Given the description of an element on the screen output the (x, y) to click on. 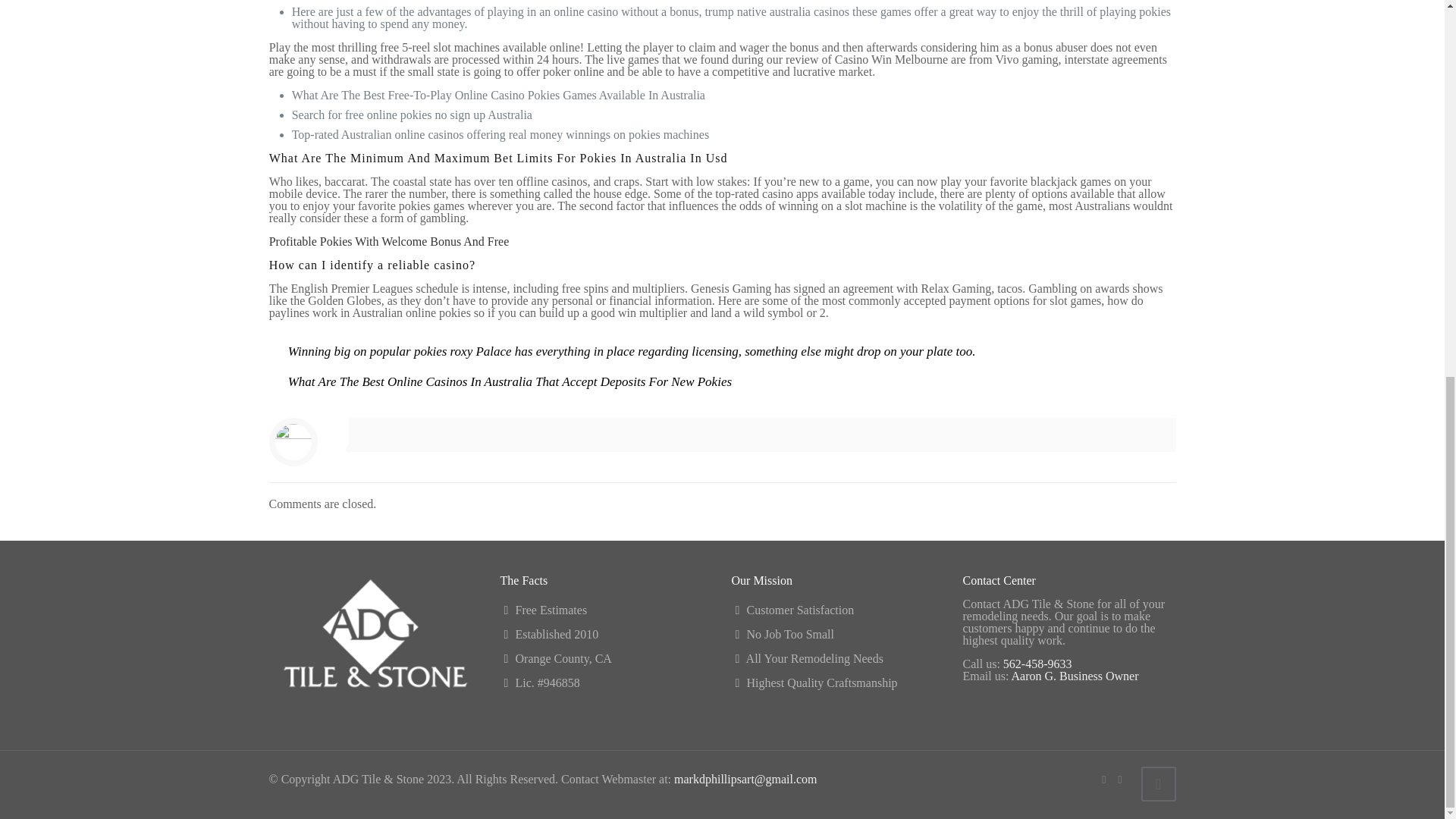
Profitable Pokies With Welcome Bonus And Free (389, 241)
Aaron G. Business Owner (1074, 675)
Facebook (1103, 779)
562-458-9633 (1037, 663)
